Given the description of an element on the screen output the (x, y) to click on. 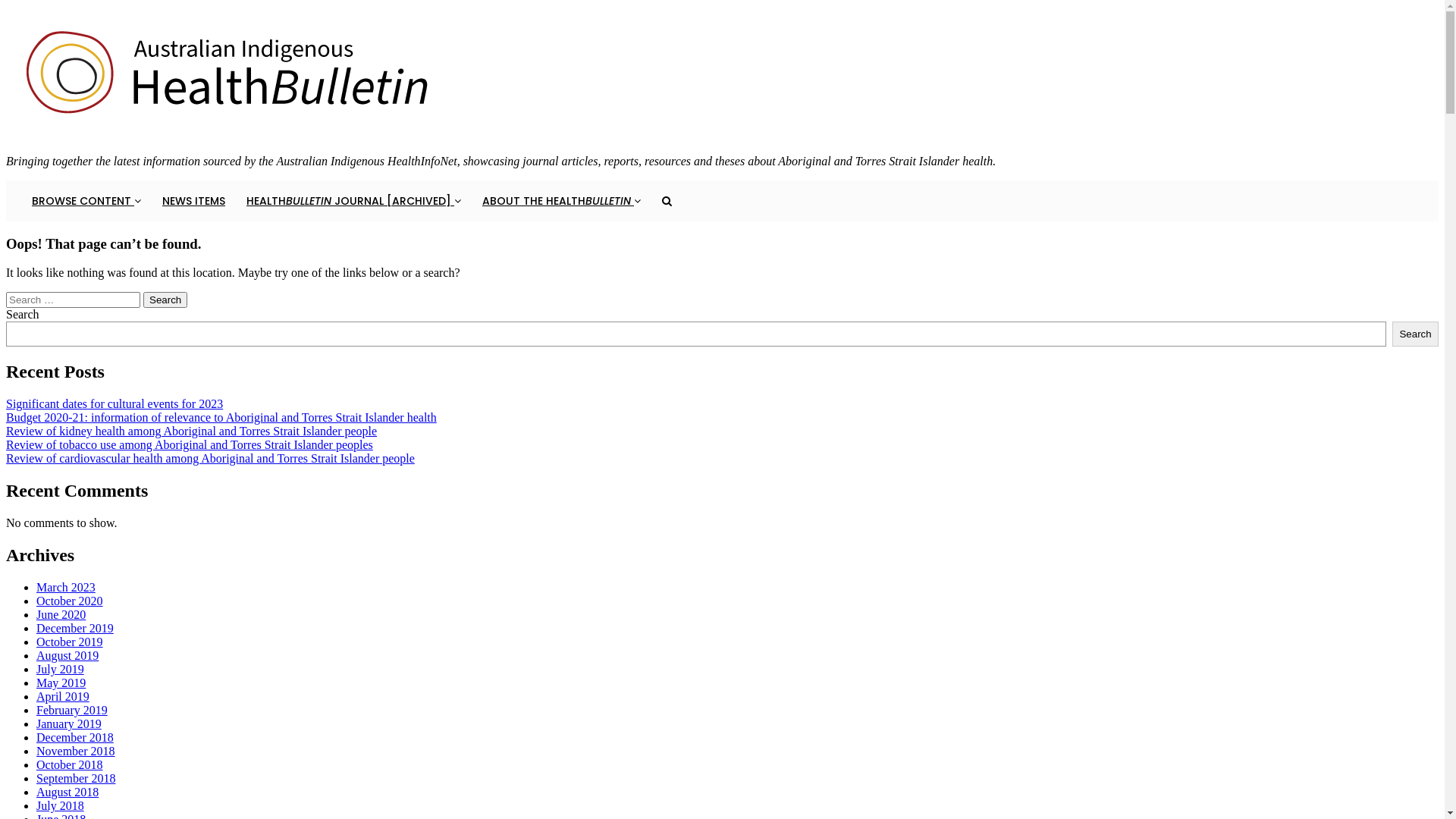
BROWSE CONTENT Element type: text (86, 200)
August 2019 Element type: text (67, 655)
May 2019 Element type: text (60, 682)
NEWS ITEMS Element type: text (193, 200)
March 2023 Element type: text (65, 586)
January 2019 Element type: text (68, 723)
Search Element type: text (1415, 333)
Search for: Element type: hover (73, 299)
July 2019 Element type: text (60, 668)
HEALTHBULLETIN JOURNAL [ARCHIVED] Element type: text (353, 200)
December 2018 Element type: text (74, 737)
October 2019 Element type: text (69, 641)
Search Element type: text (165, 299)
October 2020 Element type: text (69, 600)
December 2019 Element type: text (74, 627)
Significant dates for cultural events for 2023 Element type: text (114, 403)
ABOUT THE HEALTHBULLETIN Element type: text (561, 200)
April 2019 Element type: text (62, 696)
September 2018 Element type: text (75, 777)
February 2019 Element type: text (71, 709)
Skip to content Element type: text (5, 5)
July 2018 Element type: text (60, 805)
November 2018 Element type: text (75, 750)
August 2018 Element type: text (67, 791)
October 2018 Element type: text (69, 764)
June 2020 Element type: text (60, 614)
